Given the description of an element on the screen output the (x, y) to click on. 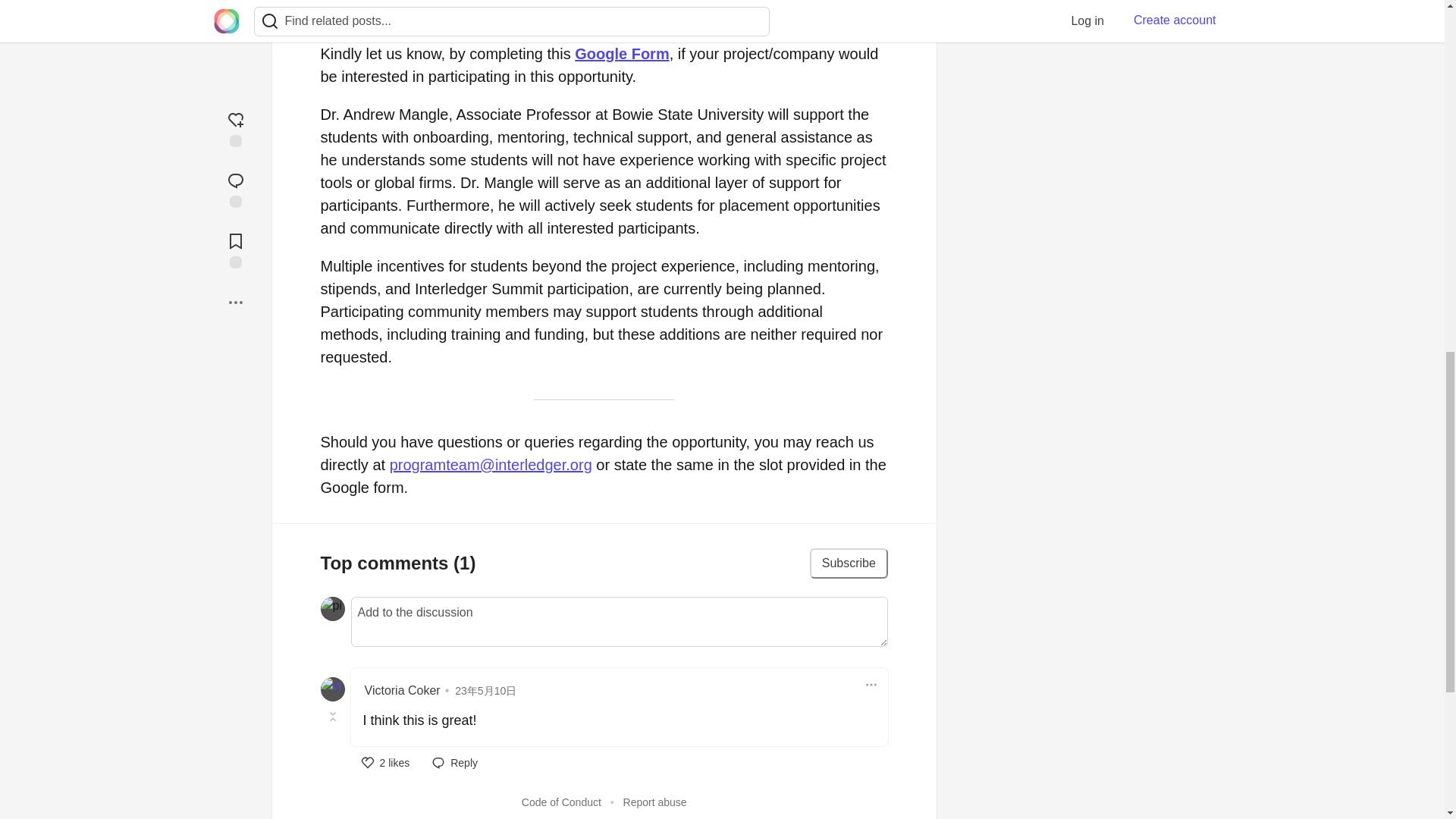
Google Form (621, 53)
Dropdown menu (870, 684)
Subscribe (848, 562)
